Given the description of an element on the screen output the (x, y) to click on. 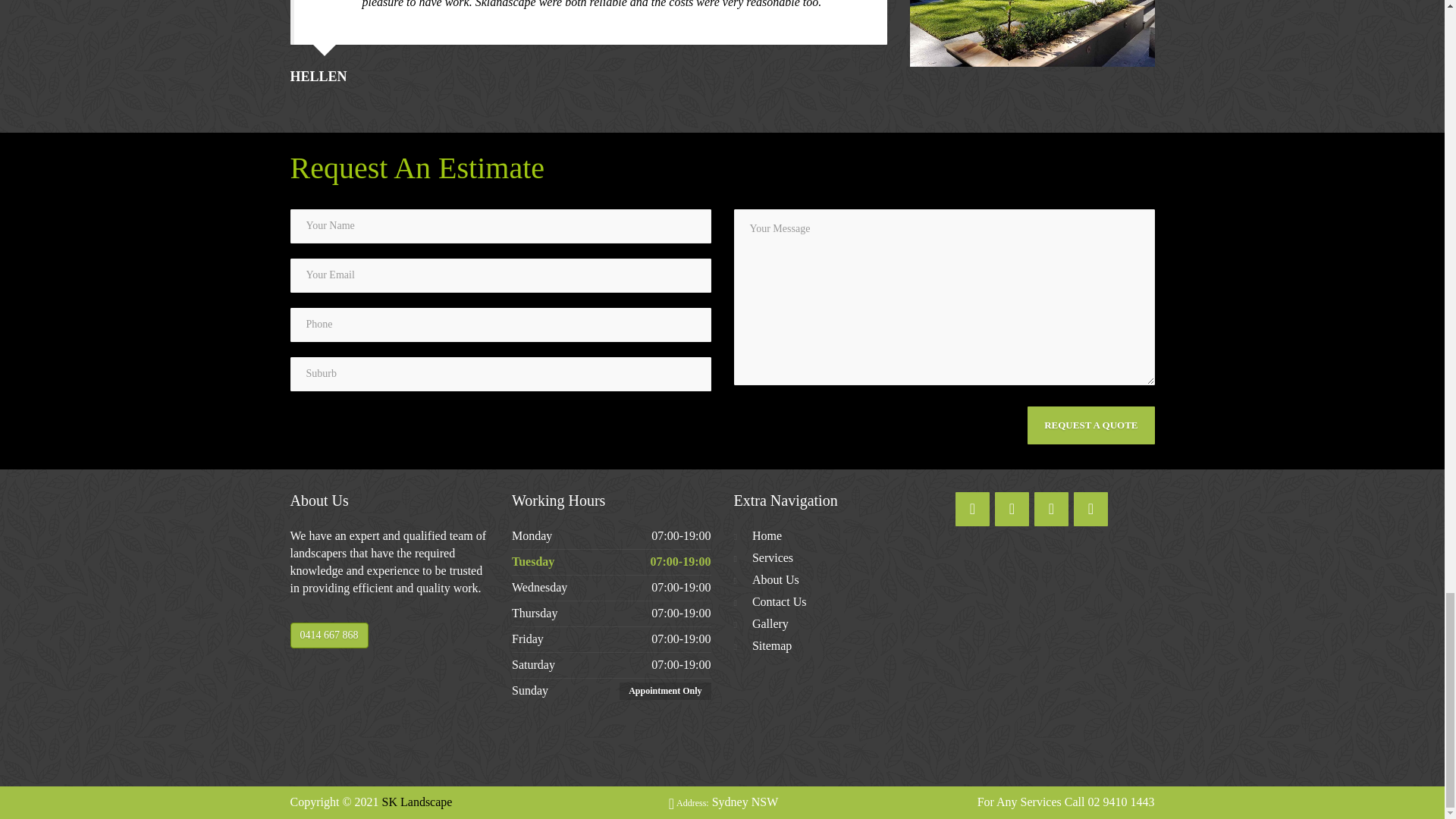
Gallery (770, 624)
About Us (775, 579)
Services (772, 558)
0414 667 868 (328, 635)
Request a Quote (1090, 425)
Home (766, 536)
02 9410 1443 (1120, 801)
Contact Us (779, 601)
Sitemap (772, 646)
Request a Quote (1090, 425)
SK Landscape (416, 801)
